Given the description of an element on the screen output the (x, y) to click on. 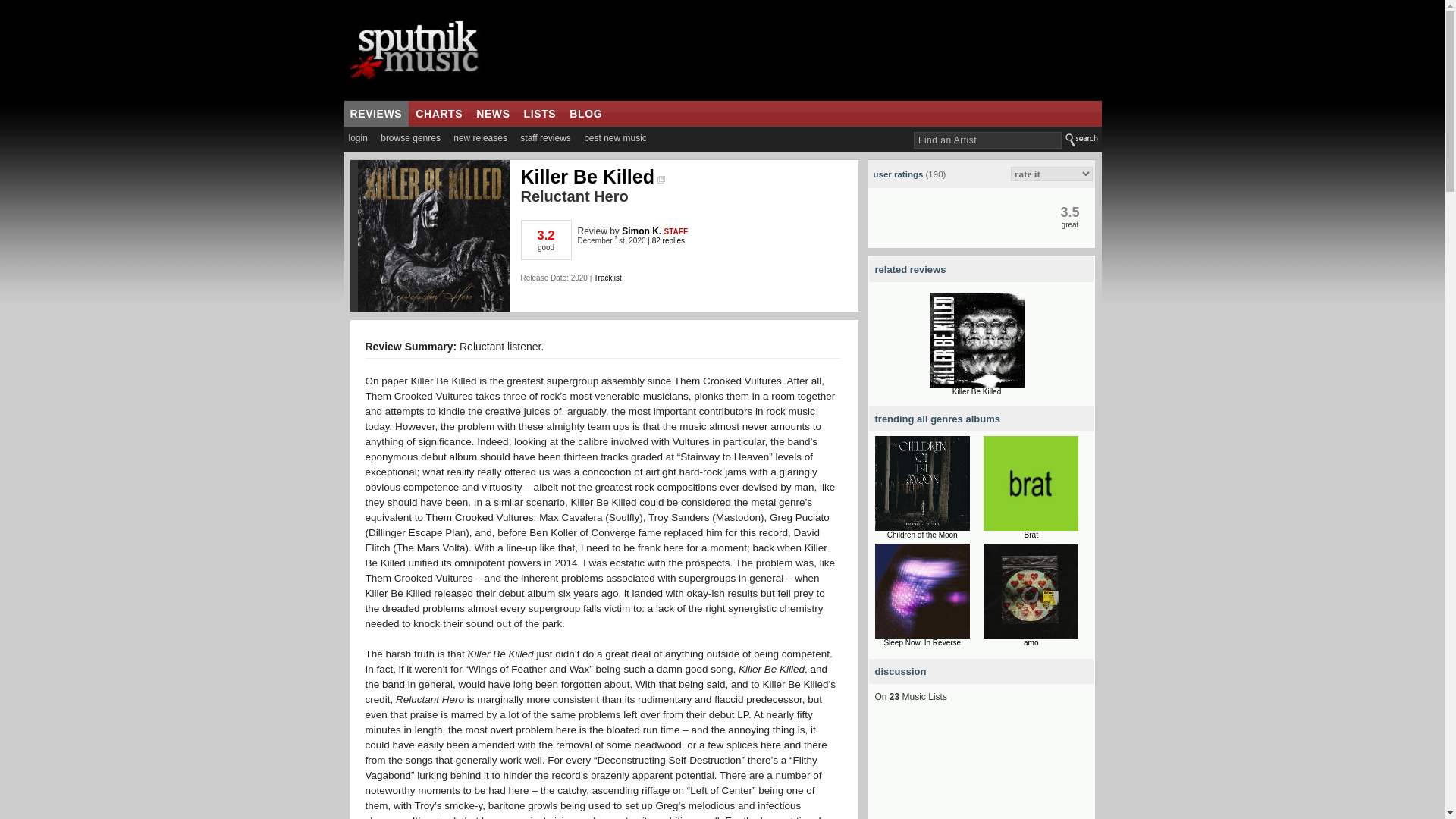
82 replies (668, 240)
Find an Artist (987, 139)
best new music (615, 137)
browse genres (410, 137)
LISTS (539, 113)
NEWS (492, 113)
BLOG (585, 113)
Sleep Now, In Reverse (921, 642)
Simon K. (641, 231)
Children of the Moon (922, 534)
